Given the description of an element on the screen output the (x, y) to click on. 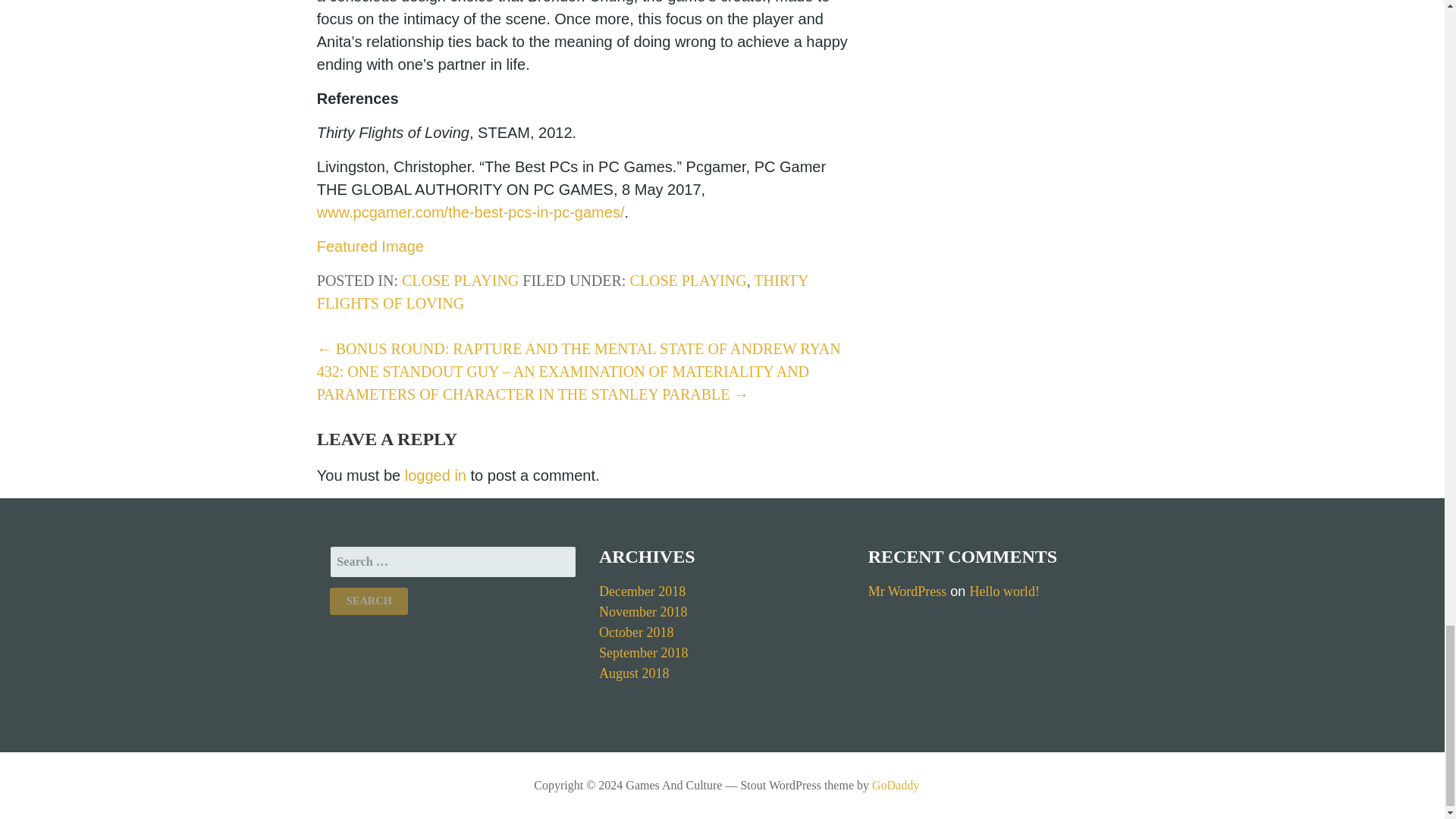
Featured Image (370, 246)
CLOSE PLAYING (686, 280)
logged in (434, 475)
THIRTY FLIGHTS OF LOVING (562, 291)
CLOSE PLAYING (459, 280)
Search (368, 601)
Search (368, 601)
